Given the description of an element on the screen output the (x, y) to click on. 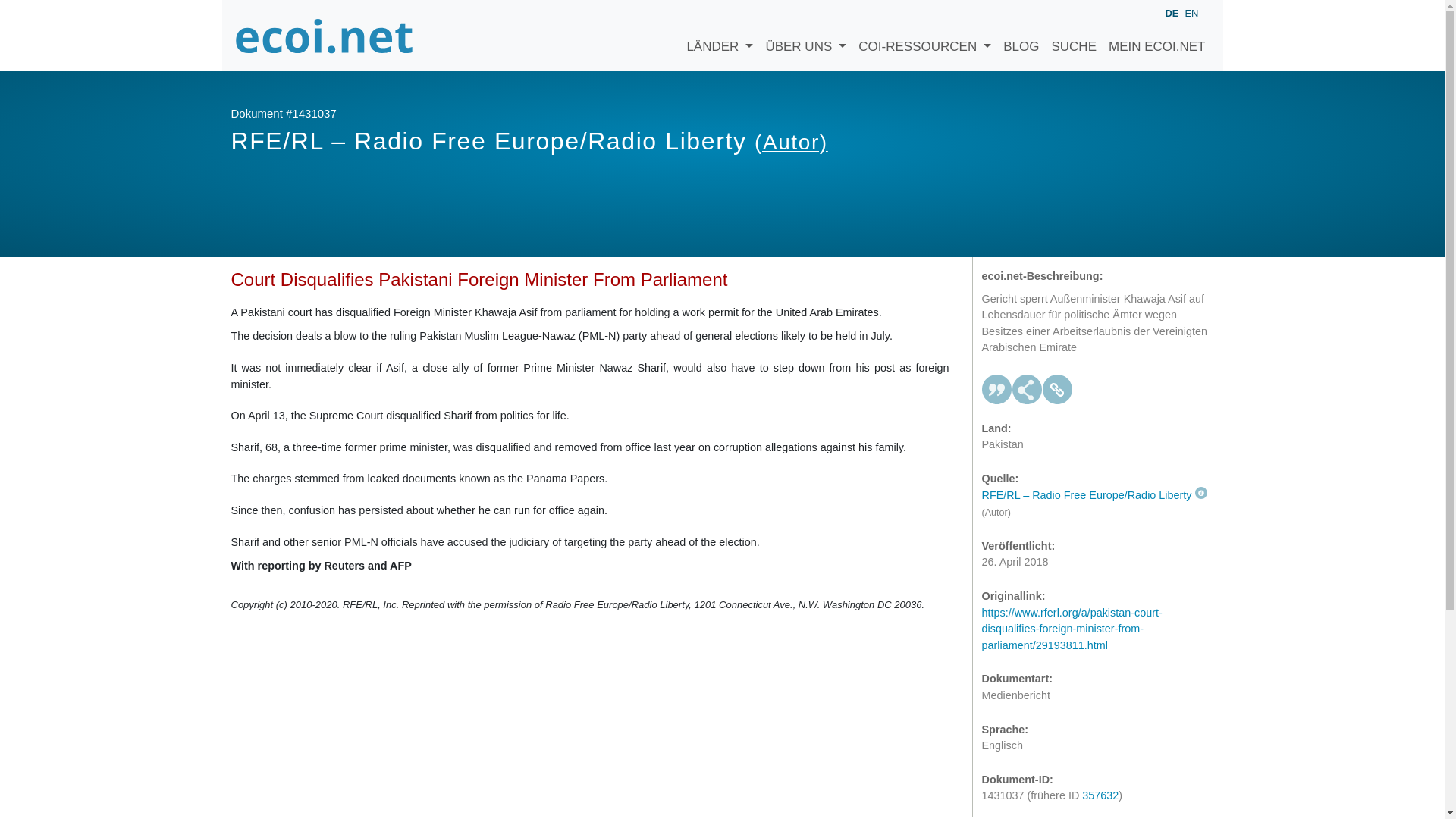
Zitieren als (996, 389)
MEIN ECOI.NET (1156, 35)
EN (1190, 12)
Deutsch (1170, 13)
Quellenbeschreibung lesen (1094, 494)
BLOG (1021, 35)
357632 (1099, 795)
Zur Startseite von ecoi.net gehen (323, 35)
Permalink (1056, 389)
Teilen (1026, 389)
